Given the description of an element on the screen output the (x, y) to click on. 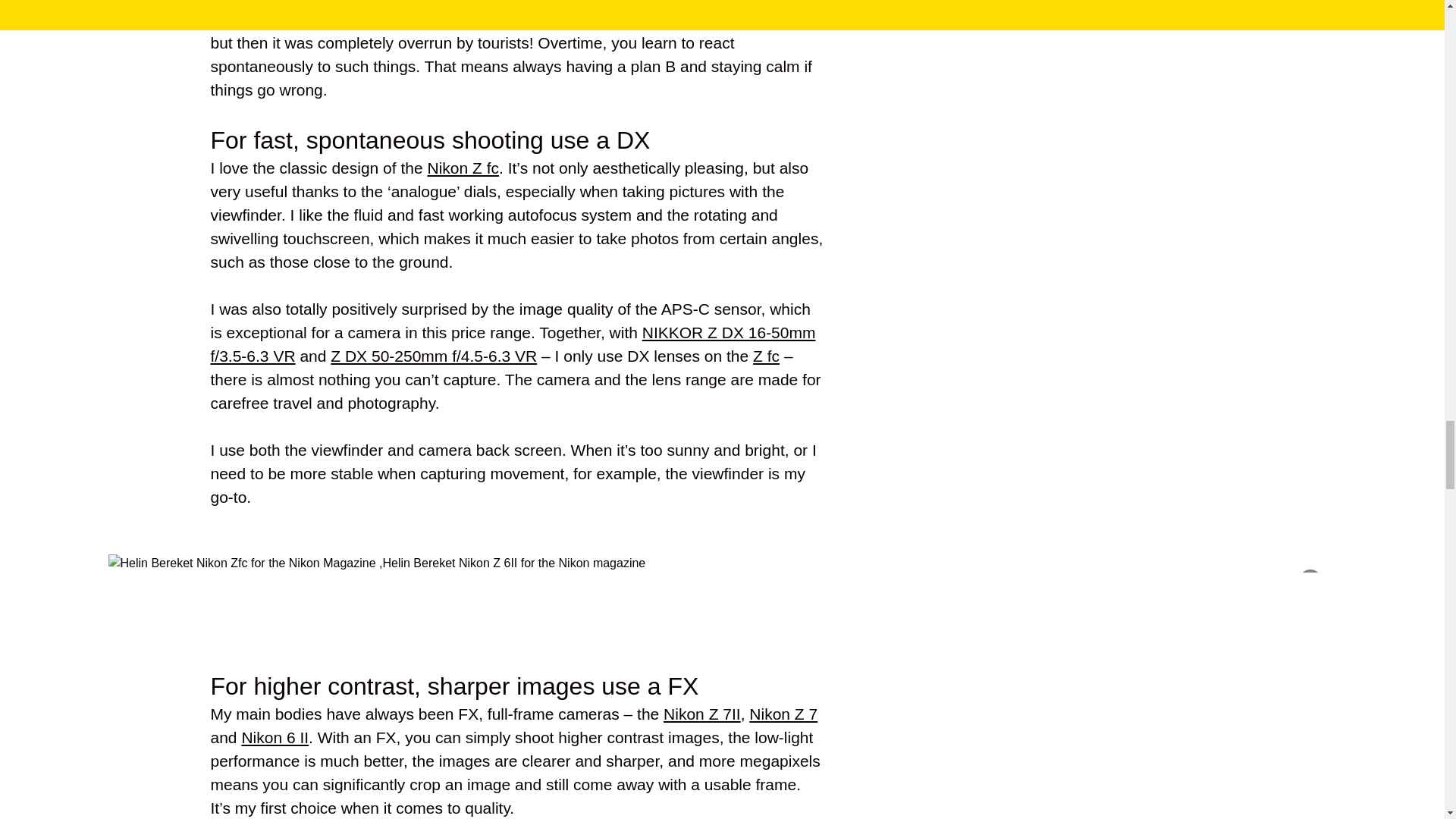
Nikon 6 II (274, 737)
Nikon Z 7II (702, 713)
Z fc (765, 355)
Nikon Z 7 (782, 713)
Nikon Z fc (463, 167)
